Given the description of an element on the screen output the (x, y) to click on. 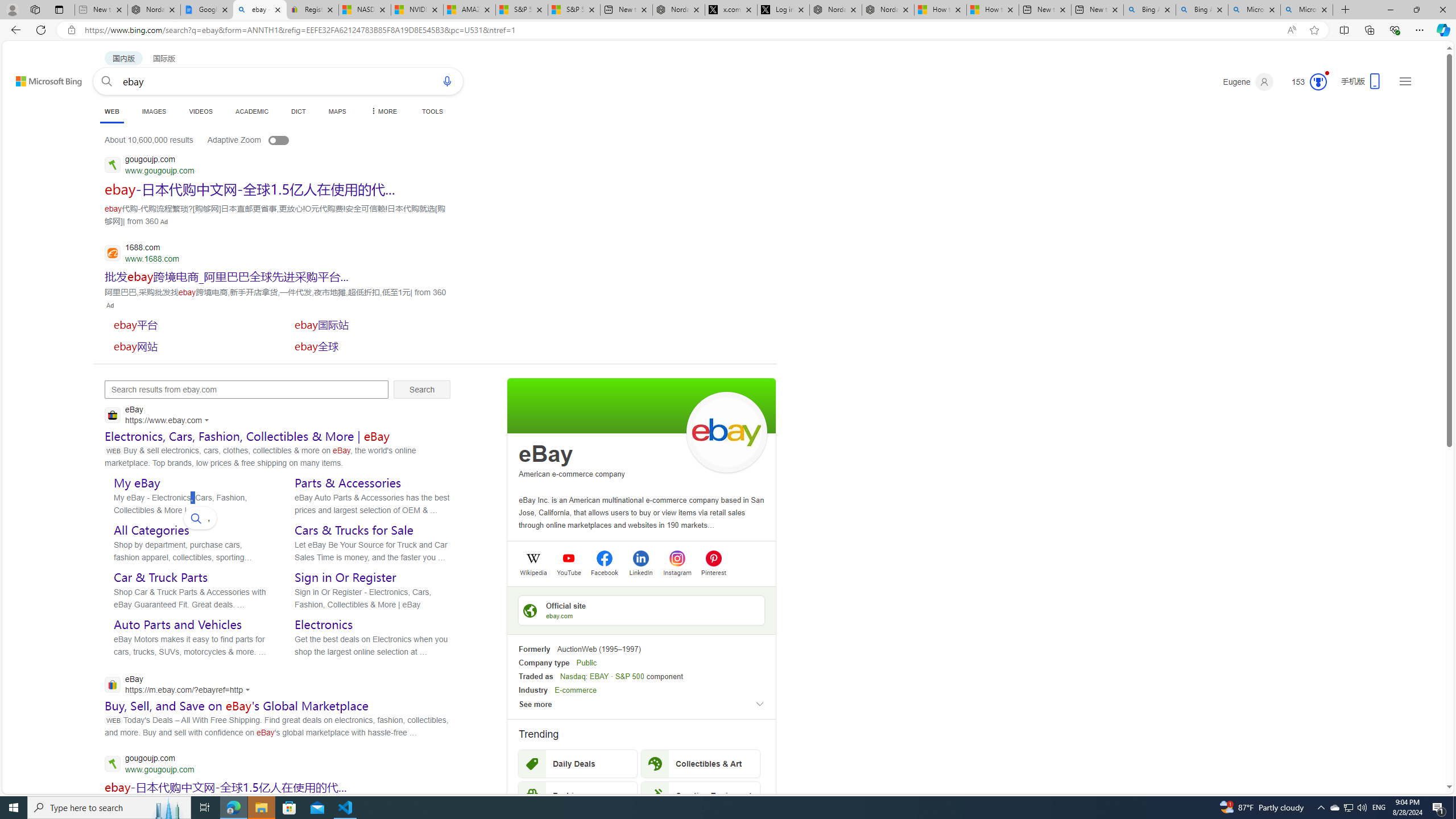
IMAGES (153, 111)
MAPS (336, 111)
Class: sp-ofsite (529, 610)
All Categories (151, 529)
, (199, 517)
YouTube (568, 571)
SERP,5712 (188, 324)
Company type (543, 662)
